Given the description of an element on the screen output the (x, y) to click on. 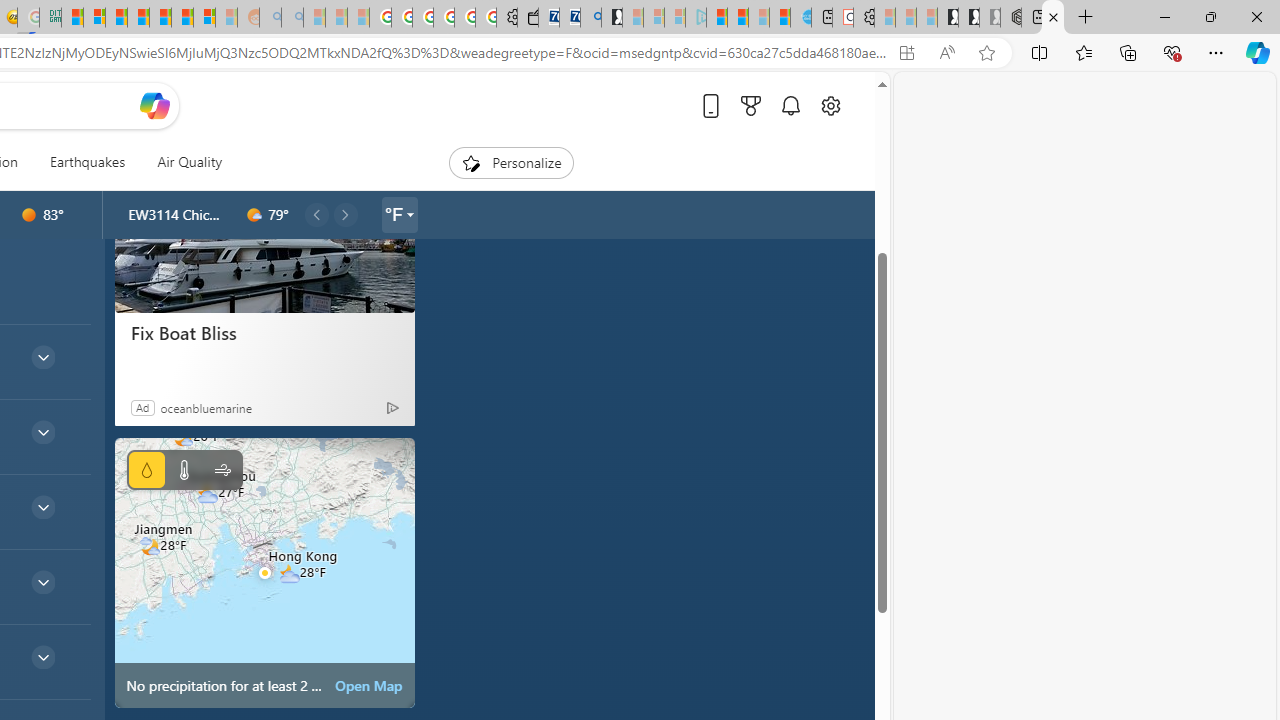
Bing Real Estate - Home sales and rental listings (591, 17)
Wallet (527, 17)
Open Map (369, 685)
Wind (221, 470)
Air Quality (181, 162)
